Given the description of an element on the screen output the (x, y) to click on. 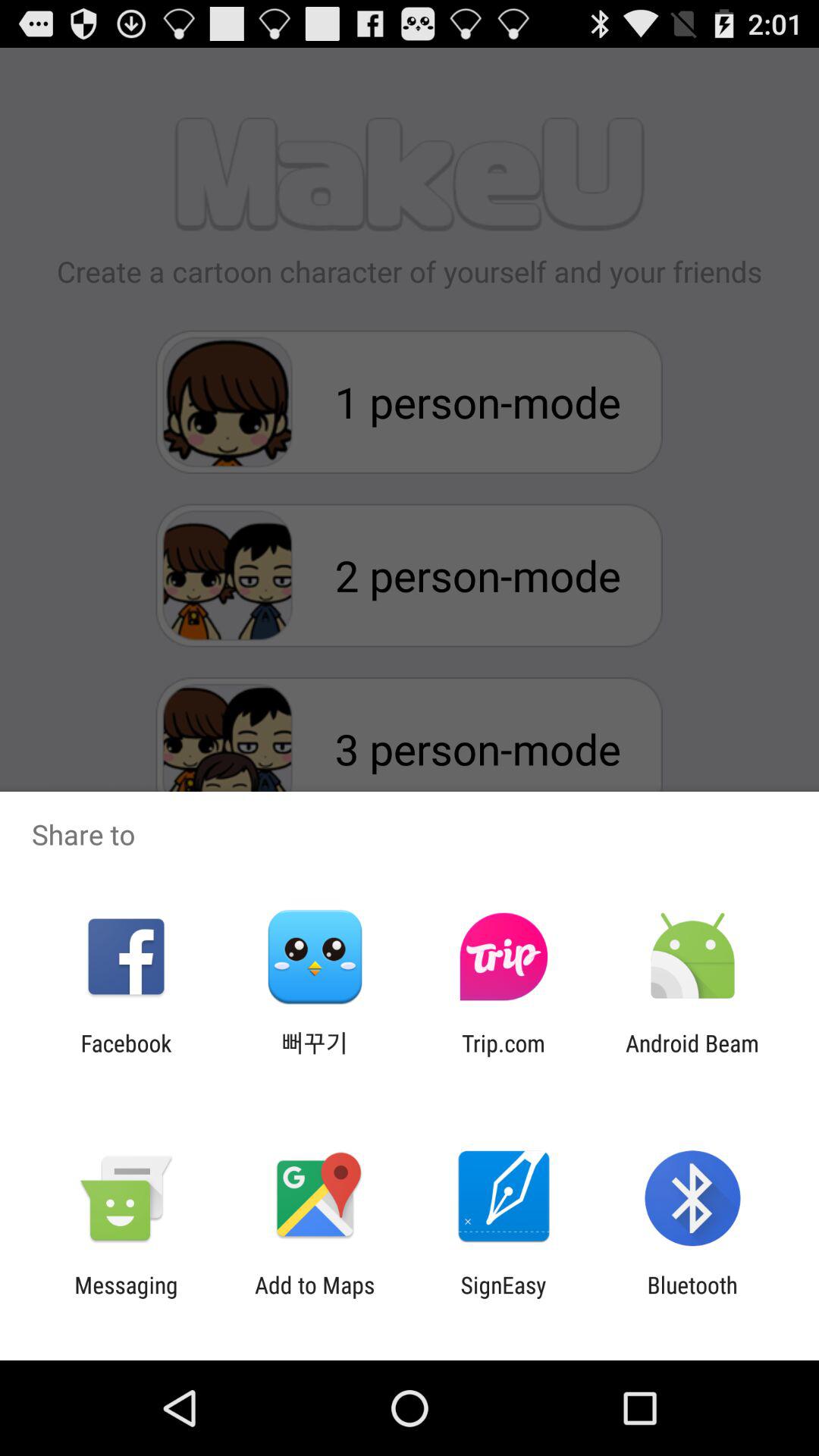
flip until messaging (126, 1298)
